Given the description of an element on the screen output the (x, y) to click on. 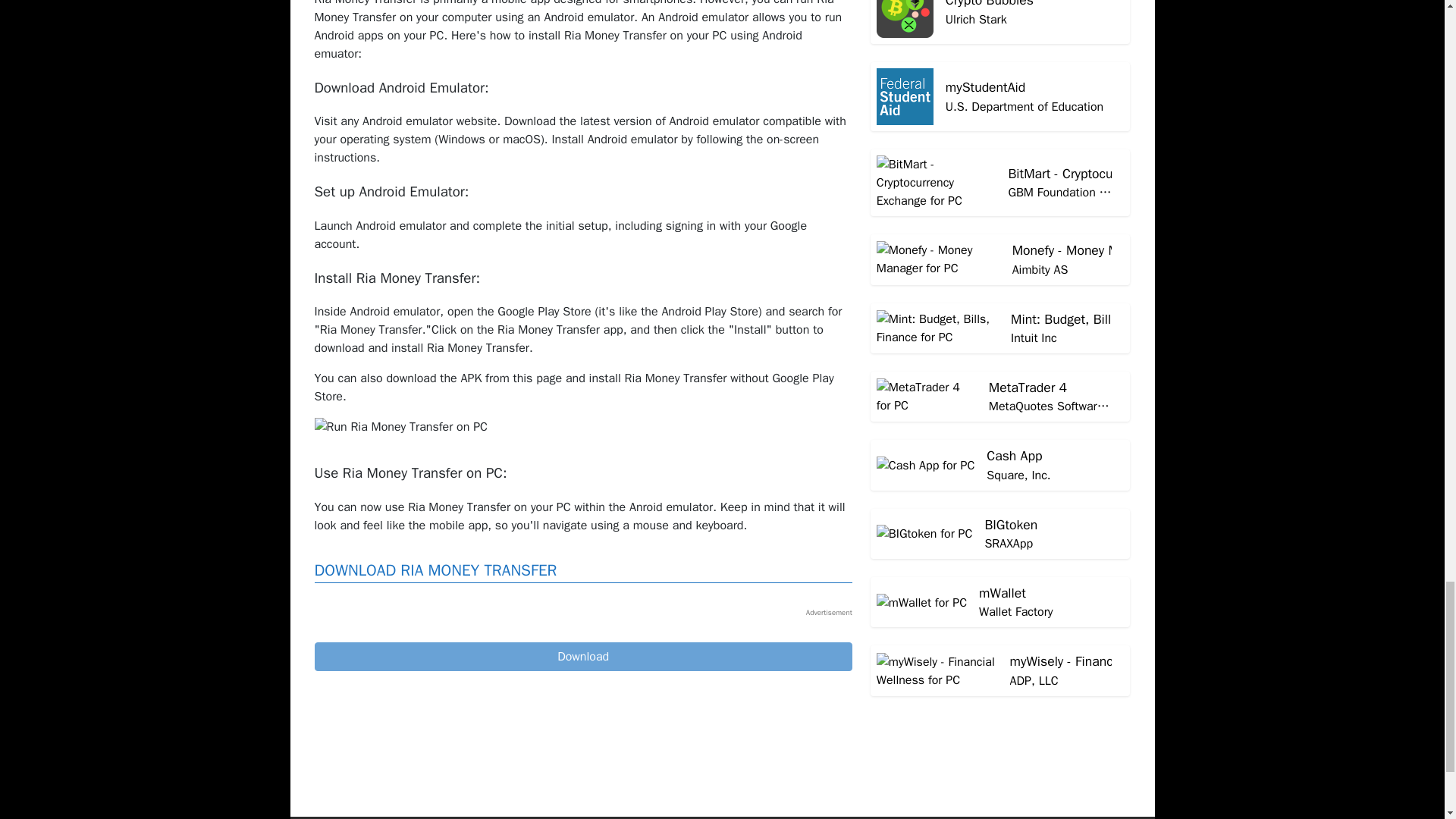
Ria Money Transfer (582, 656)
Run Ria Money Transfer on PC (400, 426)
Download (582, 656)
